Given the description of an element on the screen output the (x, y) to click on. 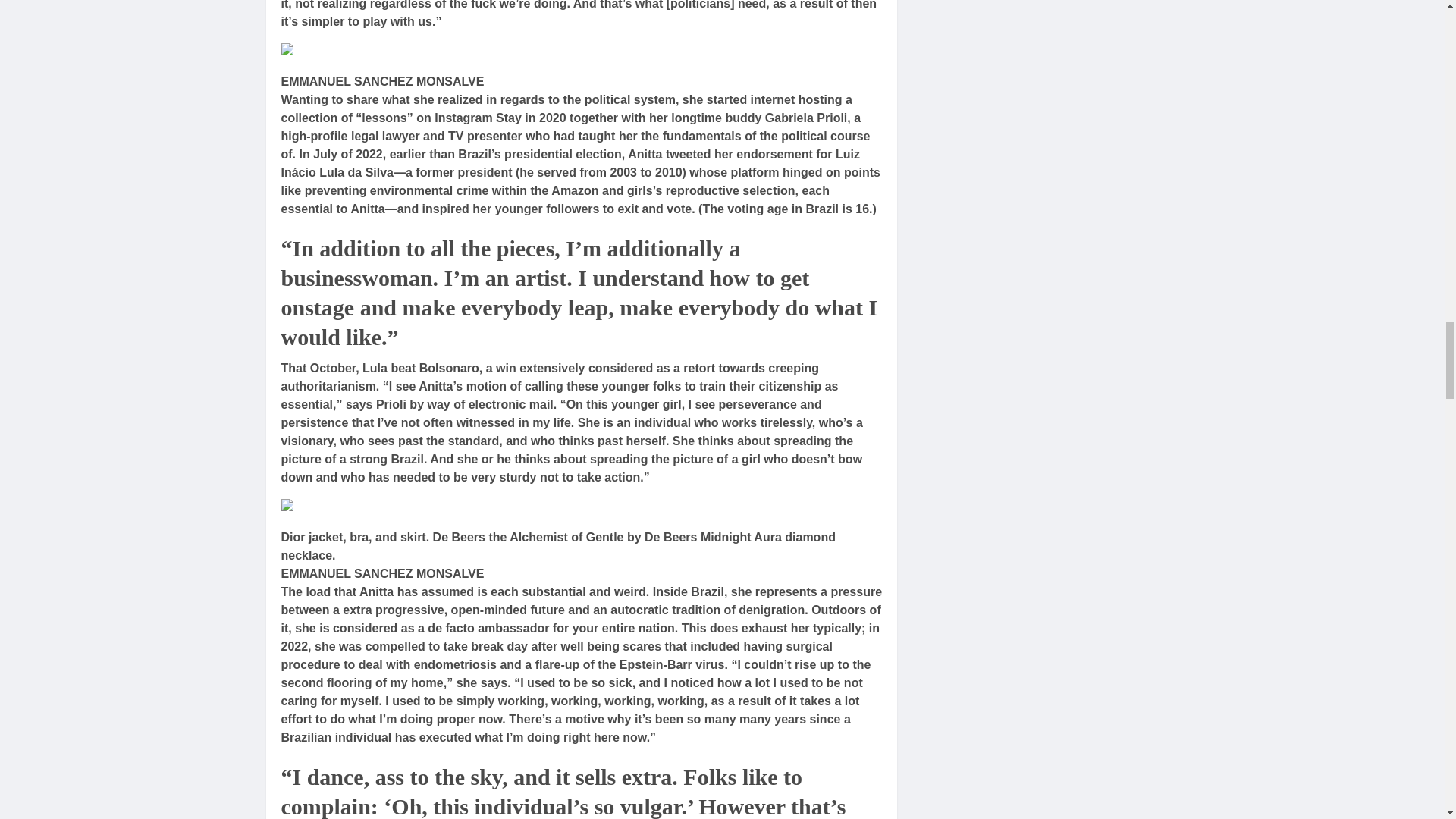
anitta june july 2023 cover (362, 507)
anitta june july 2023 cover (362, 52)
